Given the description of an element on the screen output the (x, y) to click on. 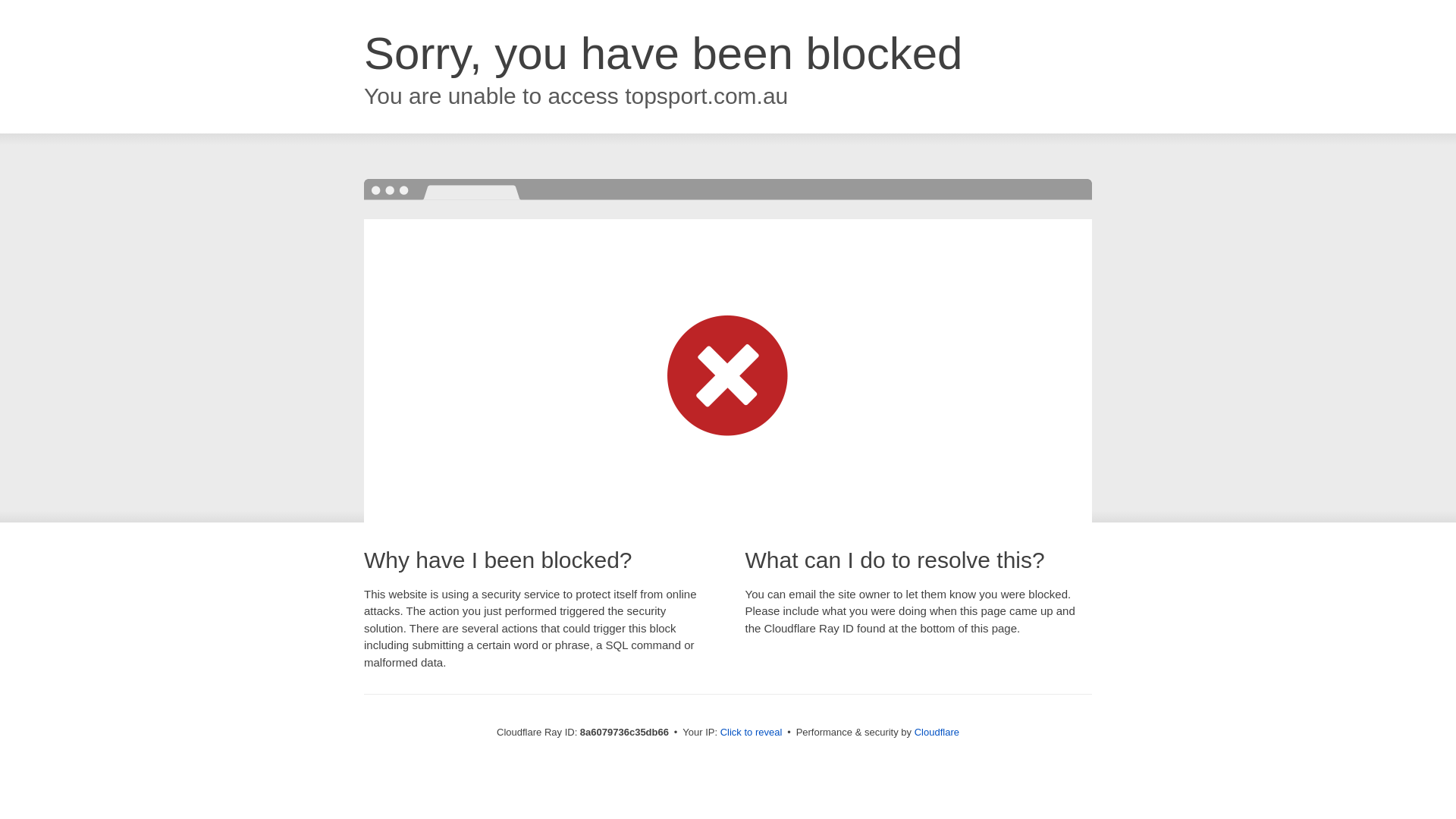
Click to reveal (751, 732)
Cloudflare (936, 731)
